Given the description of an element on the screen output the (x, y) to click on. 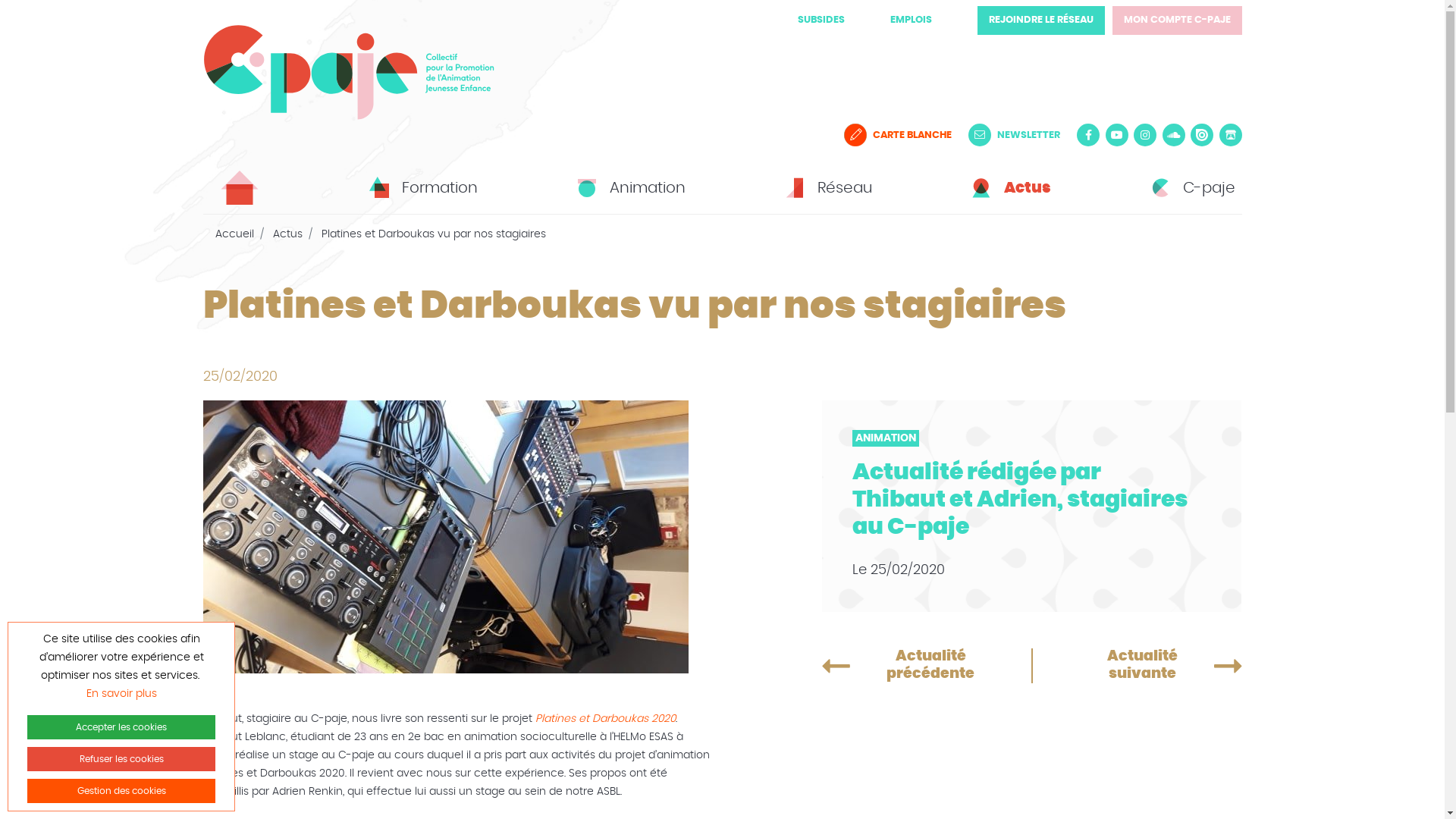
Youtube Element type: hover (1116, 134)
En savoir plus Element type: text (121, 693)
SUBSIDES Element type: text (820, 20)
Facebook Element type: hover (1087, 134)
MON COMPTE C-PAJE Element type: text (1176, 20)
Gestion des cookies Element type: text (121, 790)
C-paje Element type: text (1190, 187)
EMPLOIS Element type: text (910, 20)
Issuu Element type: hover (1201, 134)
Soundcloud Element type: hover (1172, 134)
Accepter les cookies Element type: text (121, 727)
Actus Element type: text (1008, 187)
Formation Element type: text (420, 187)
Platines et Darboukas 2020 Element type: text (605, 718)
Itch.io Element type: hover (1230, 134)
Accueil Element type: text (234, 234)
Instagram Element type: hover (1144, 134)
Actus Element type: text (287, 234)
Refuser les cookies Element type: text (121, 758)
Animation Element type: text (628, 187)
